Given the description of an element on the screen output the (x, y) to click on. 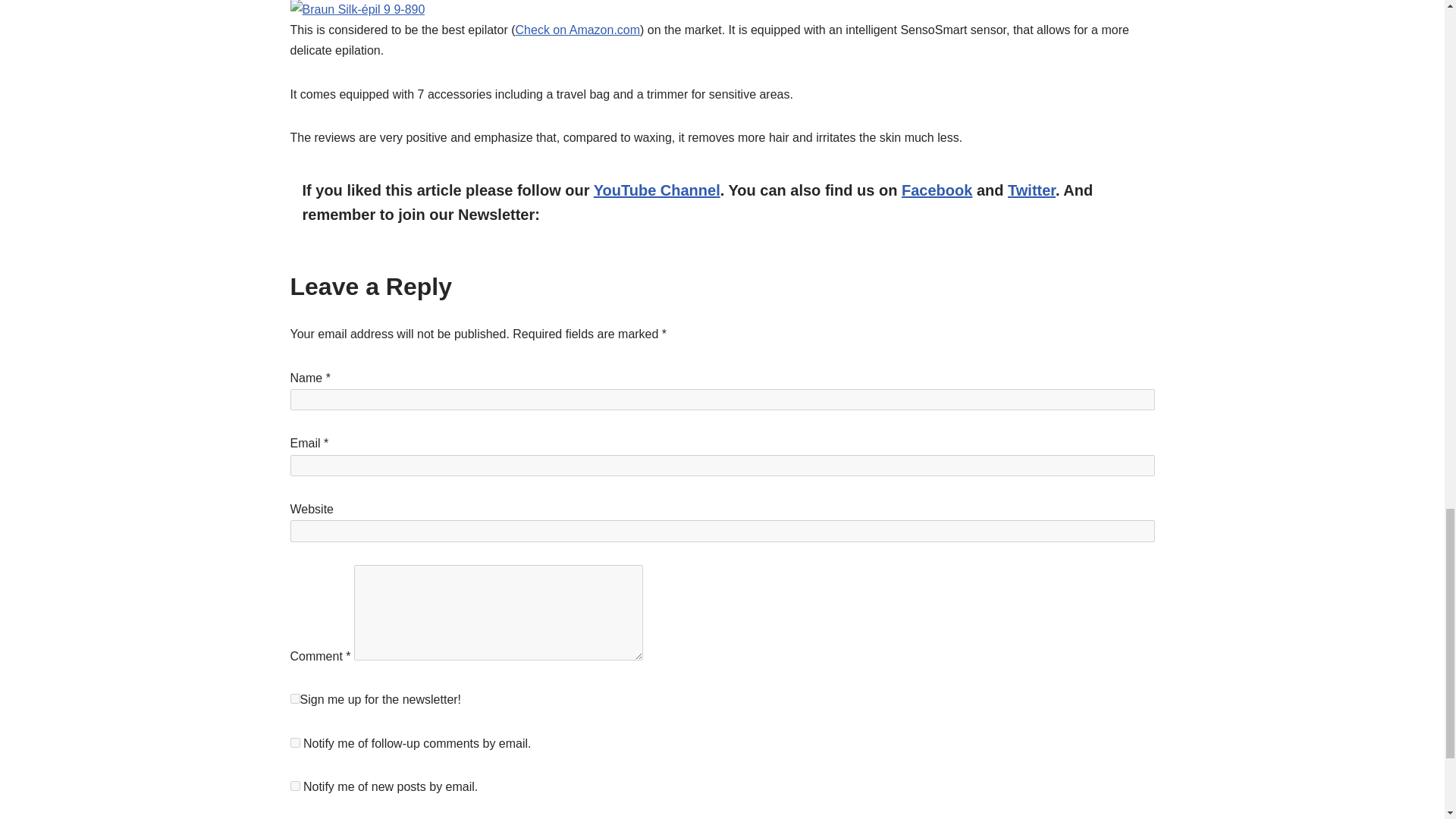
1 (294, 698)
subscribe (294, 742)
subscribe (294, 786)
